Given the description of an element on the screen output the (x, y) to click on. 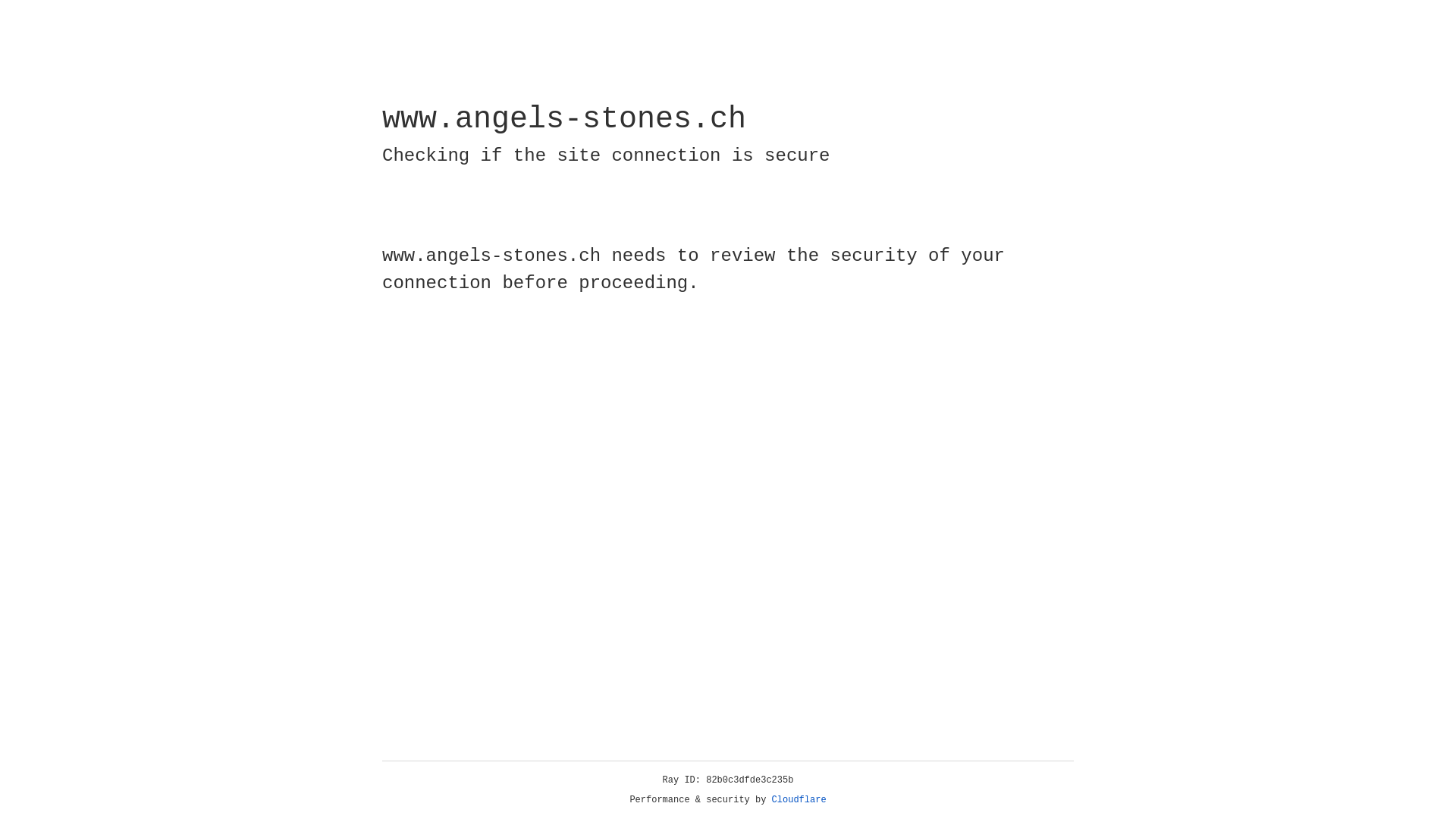
Cloudflare Element type: text (798, 799)
